Given the description of an element on the screen output the (x, y) to click on. 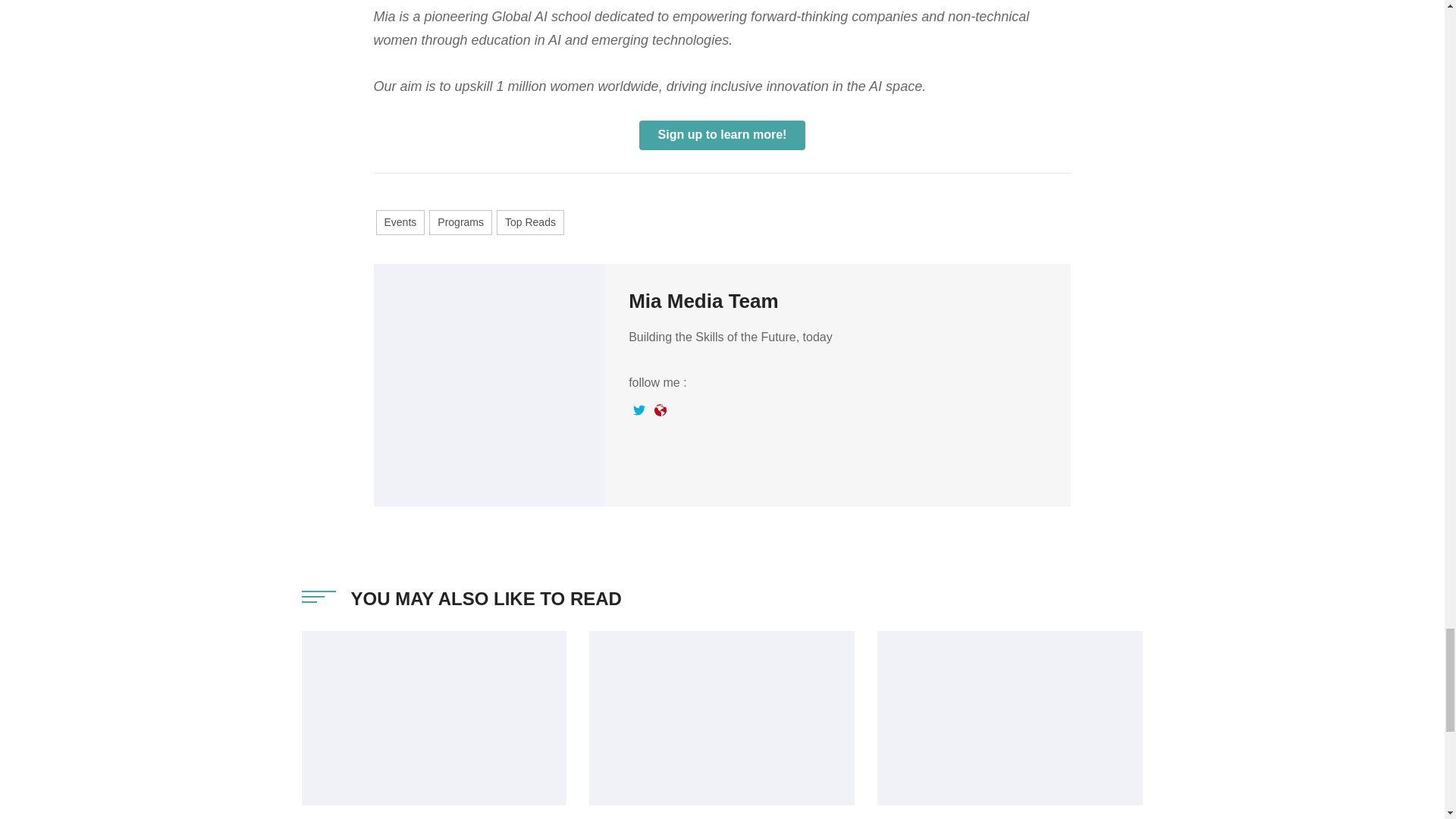
Events (400, 222)
Programs (460, 222)
Top Reads (530, 222)
Mia Media Team (702, 300)
Sign up to learn more! (722, 134)
